Given the description of an element on the screen output the (x, y) to click on. 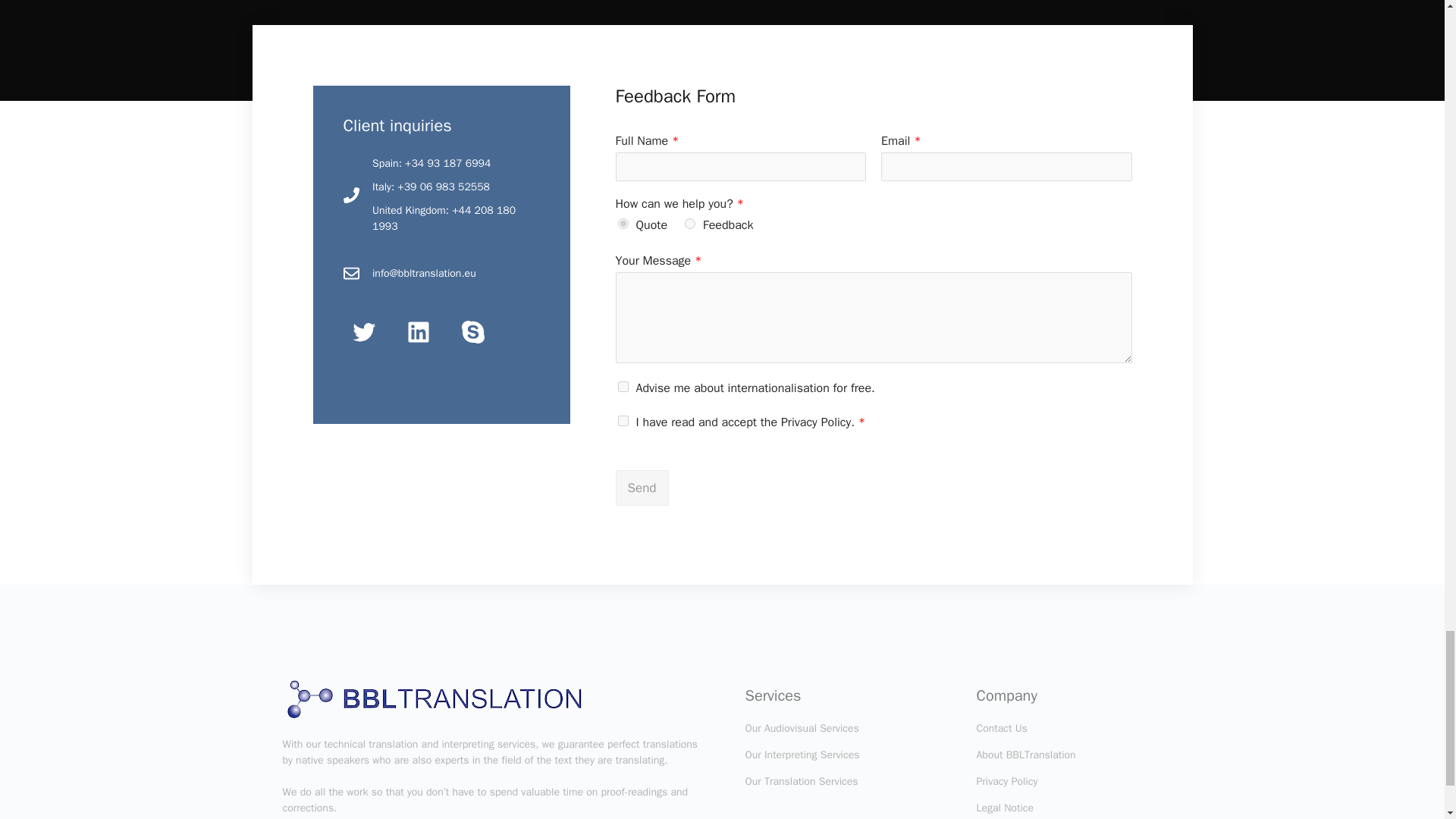
I have read and accept the Privacy Policy. (622, 420)
Advise me about internationalisation for free. (622, 386)
Quote (622, 223)
logo-bbl-sf (433, 698)
Feedback (689, 223)
